Given the description of an element on the screen output the (x, y) to click on. 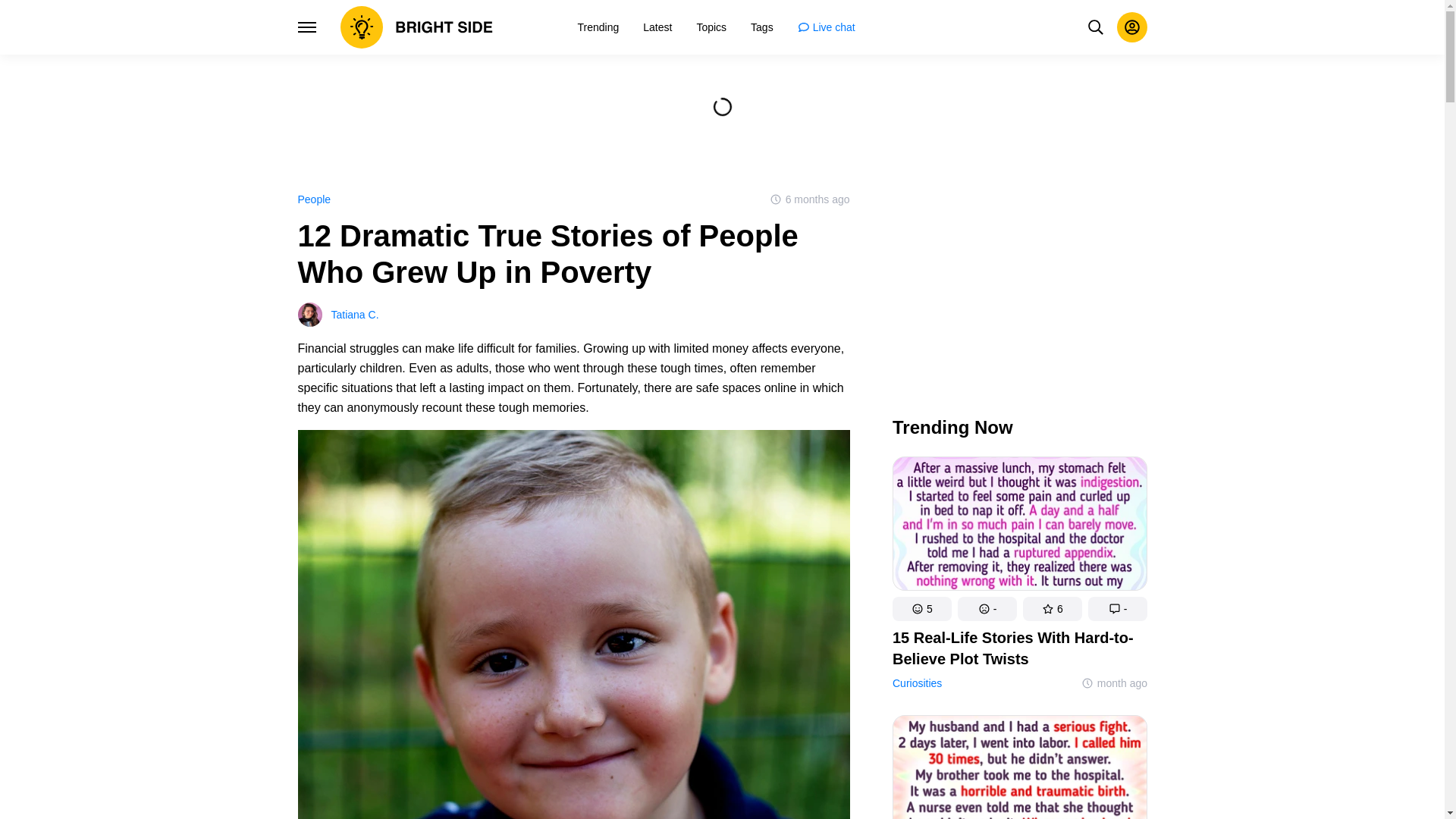
15 Real-Life Stories With Hard-to-Believe Plot Twists (1019, 648)
Curiosities (915, 683)
- (1117, 608)
- (986, 608)
Tatiana C. (572, 314)
6 (1051, 608)
5 (920, 608)
People (313, 199)
